Given the description of an element on the screen output the (x, y) to click on. 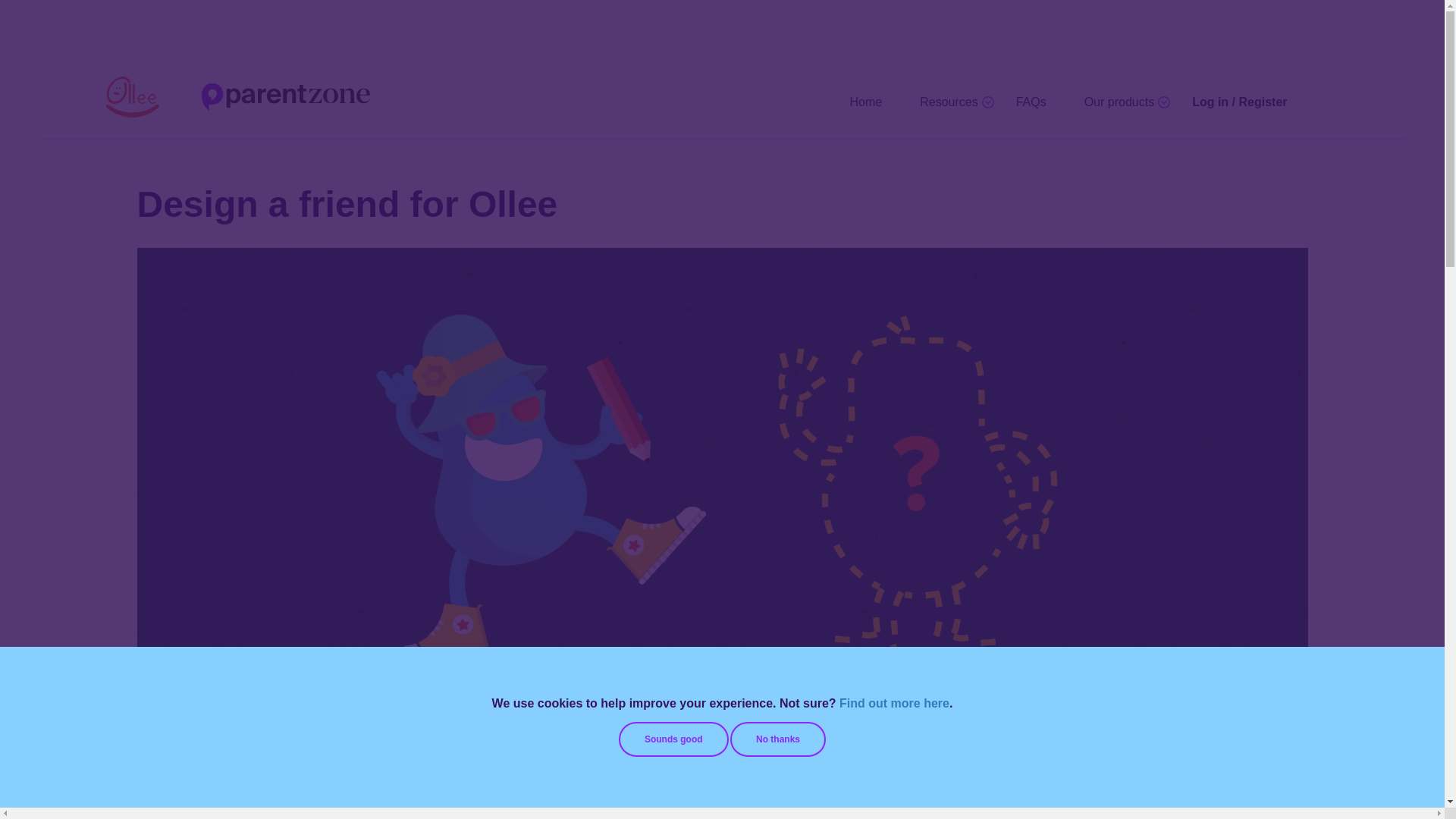
BBC Children in Need (745, 806)
Opens in a new window (745, 806)
Ollee (248, 94)
FAQs (1031, 102)
Home (865, 102)
